Given the description of an element on the screen output the (x, y) to click on. 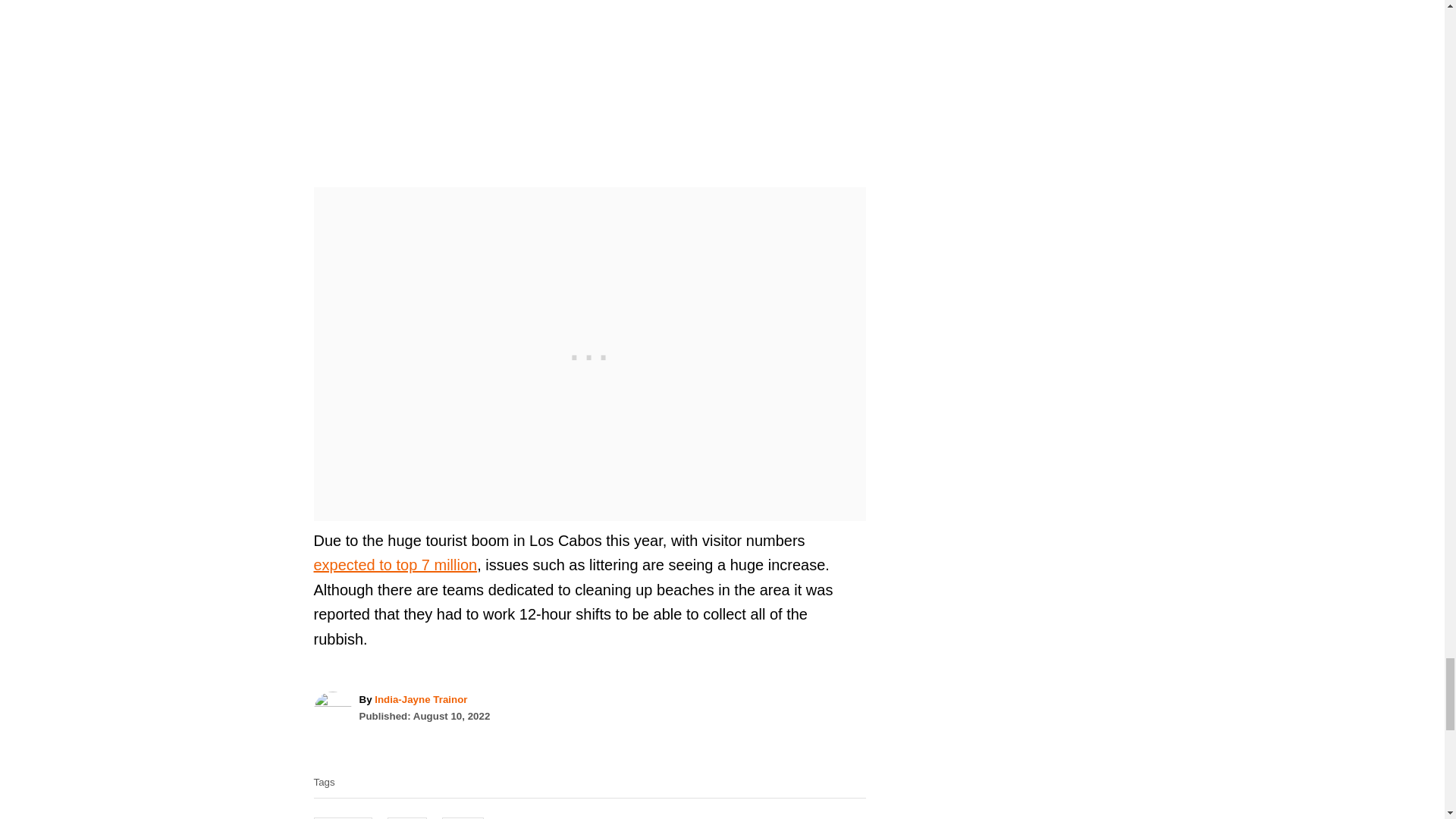
Beaches (343, 818)
India-Jayne Trainor (420, 699)
litter (406, 818)
expected to top 7 million (395, 564)
trash (463, 818)
